Given the description of an element on the screen output the (x, y) to click on. 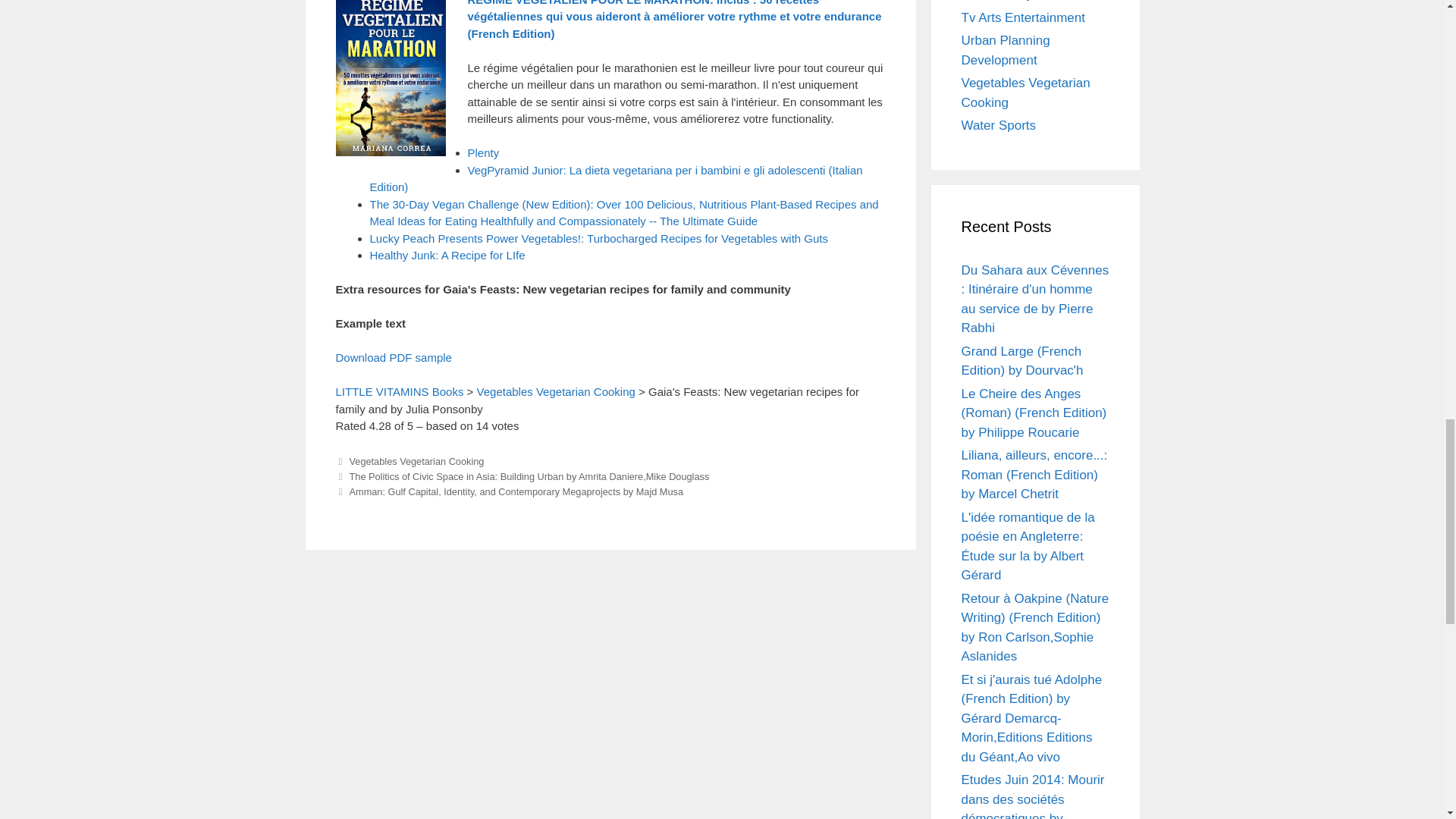
Download PDF sample (392, 357)
Vegetables Vegetarian Cooking (416, 460)
Go to the Vegetables Vegetarian Cooking category archives. (555, 391)
Go to LITTLE VITAMINS Books. (398, 391)
LITTLE VITAMINS Books (398, 391)
Previous (521, 476)
Vegetables Vegetarian Cooking (555, 391)
Next (508, 491)
Plenty (483, 152)
Healthy Junk: A Recipe for LIfe (447, 254)
